Given the description of an element on the screen output the (x, y) to click on. 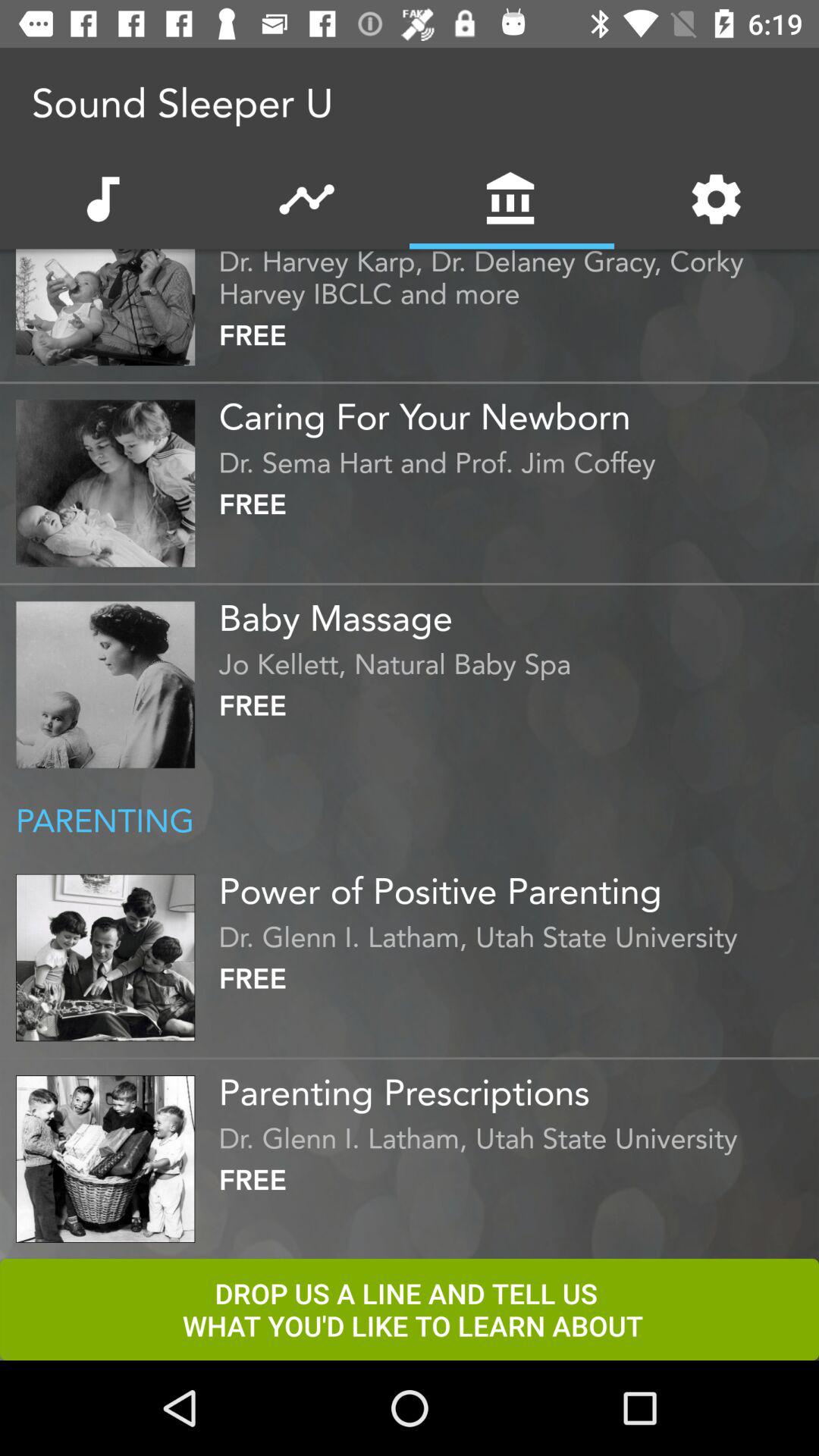
flip until power of positive item (515, 885)
